Given the description of an element on the screen output the (x, y) to click on. 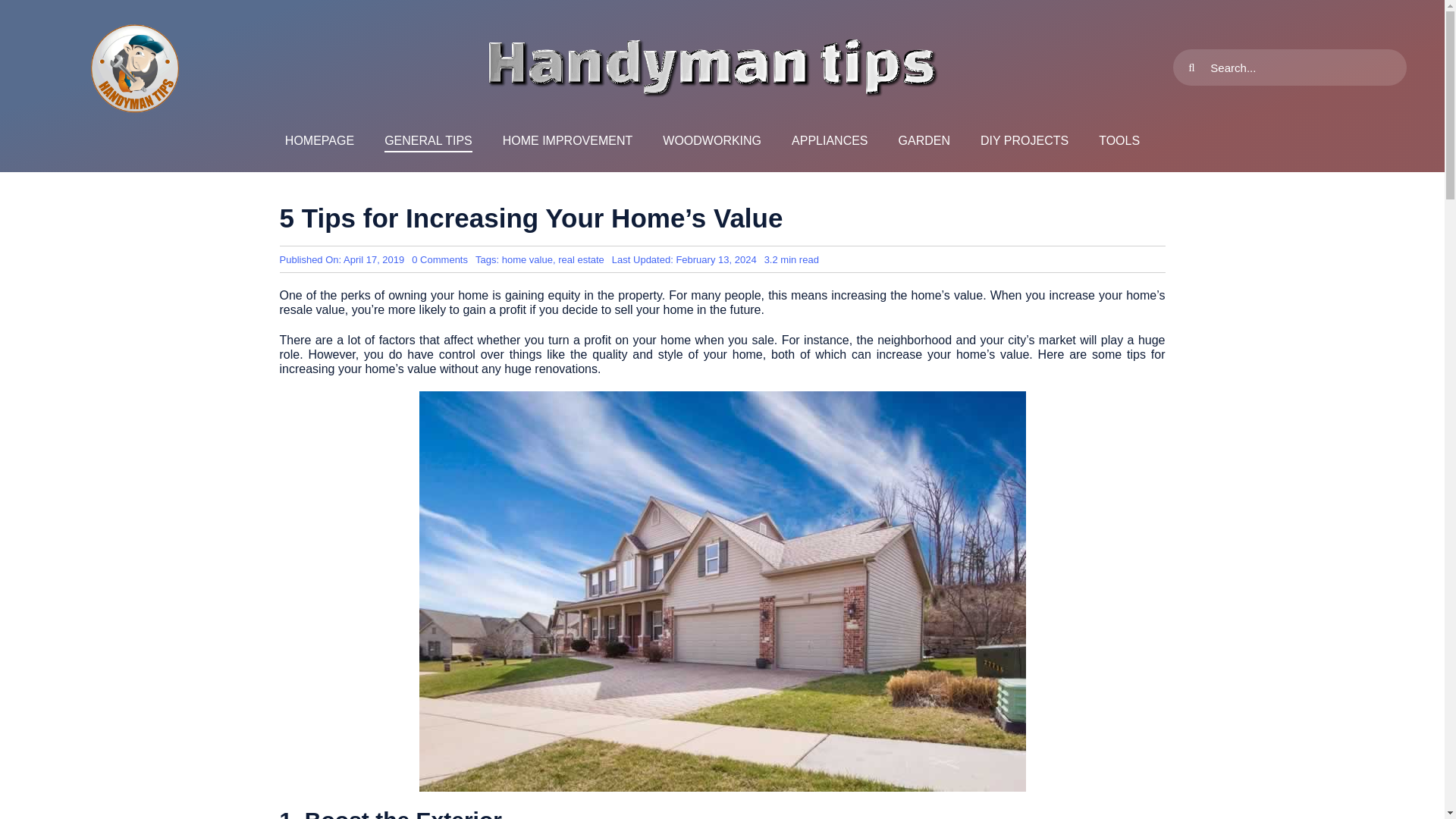
handyman tips text (711, 67)
real estate (580, 259)
Handyman tips logo trans (134, 67)
DIY PROJECTS (1023, 141)
WOODWORKING (711, 141)
HOMEPAGE (319, 141)
APPLIANCES (829, 141)
home value (527, 259)
TOOLS (1119, 141)
GARDEN (924, 141)
